Given the description of an element on the screen output the (x, y) to click on. 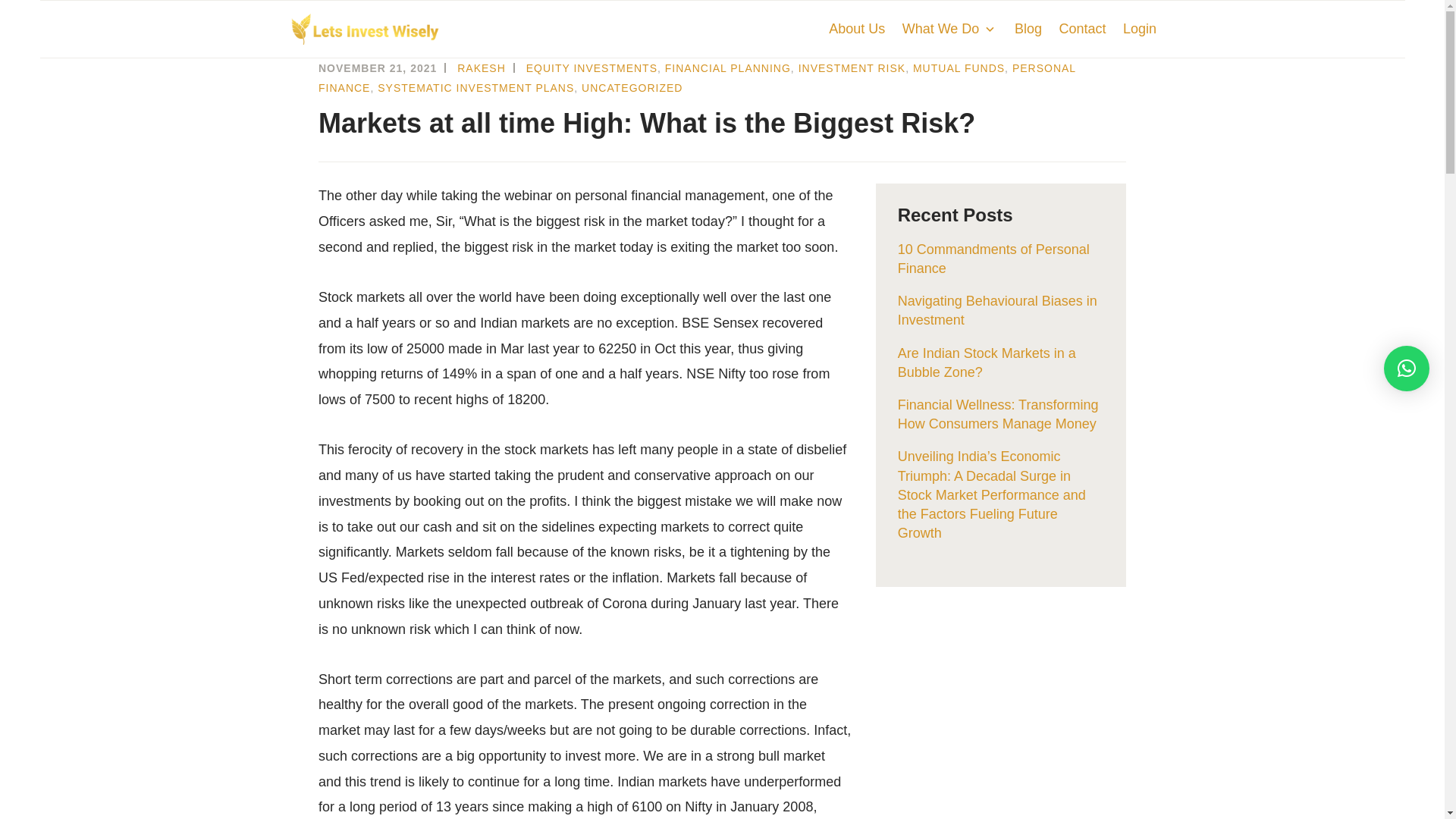
SYSTEMATIC INVESTMENT PLANS (475, 87)
FINANCIAL PLANNING (727, 68)
10 Commandments of Personal Finance (993, 258)
Login (1139, 29)
INVESTMENT RISK (851, 68)
UNCATEGORIZED (631, 87)
RAKESH (481, 68)
EQUITY INVESTMENTS (591, 68)
Contact (1081, 29)
What We Do (949, 29)
Blog (1028, 29)
MUTUAL FUNDS (958, 68)
Financial Wellness: Transforming How Consumers Manage Money (998, 414)
About Us (856, 29)
NOVEMBER 21, 2021 (377, 68)
